Given the description of an element on the screen output the (x, y) to click on. 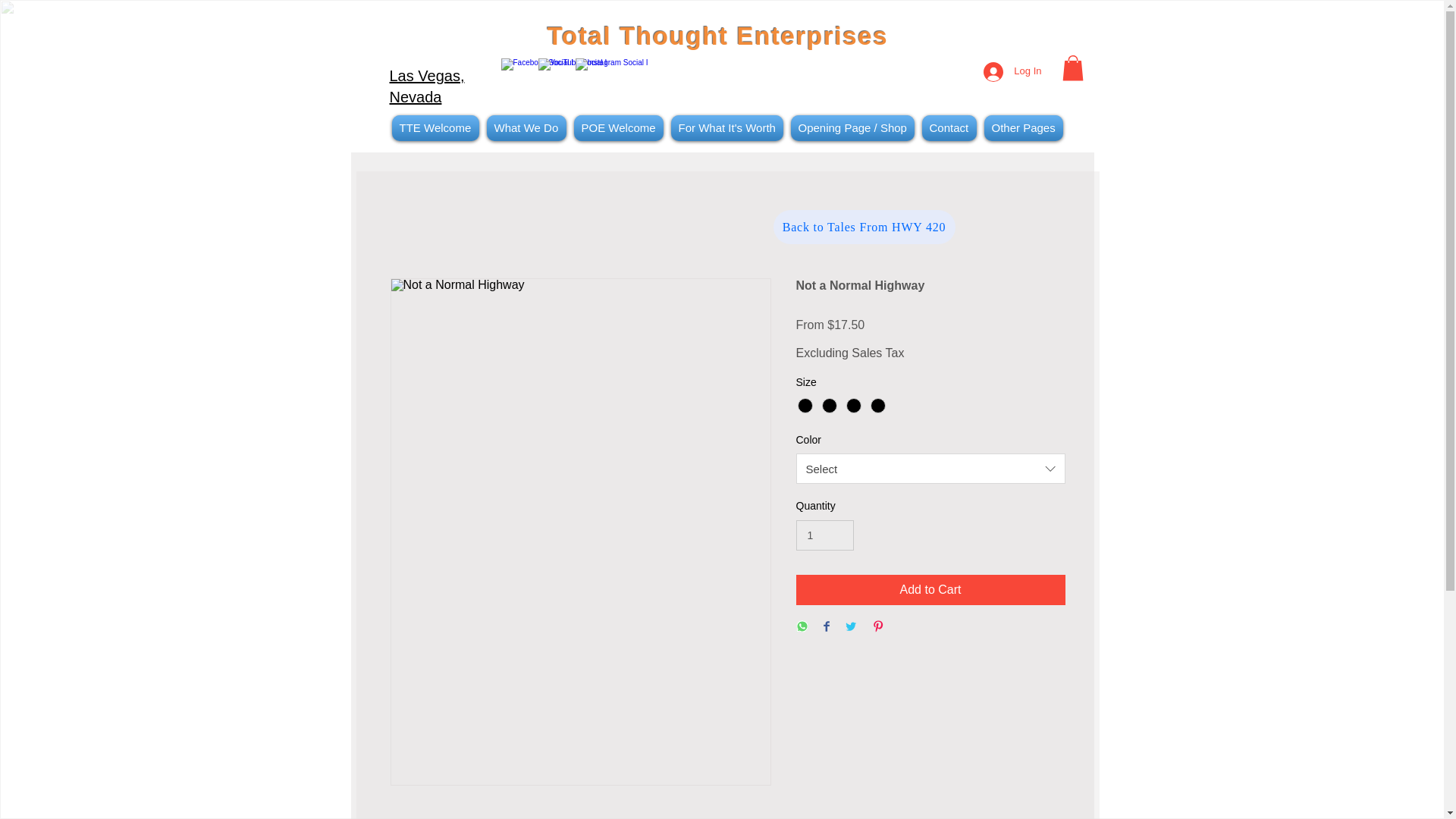
Las Vegas, Nevada (427, 86)
POE Welcome (618, 127)
TTE Welcome (435, 127)
1 (824, 535)
Log In (1011, 71)
What We Do (525, 127)
Total Thought Enterprises (717, 35)
For What It's Worth (726, 127)
